Given the description of an element on the screen output the (x, y) to click on. 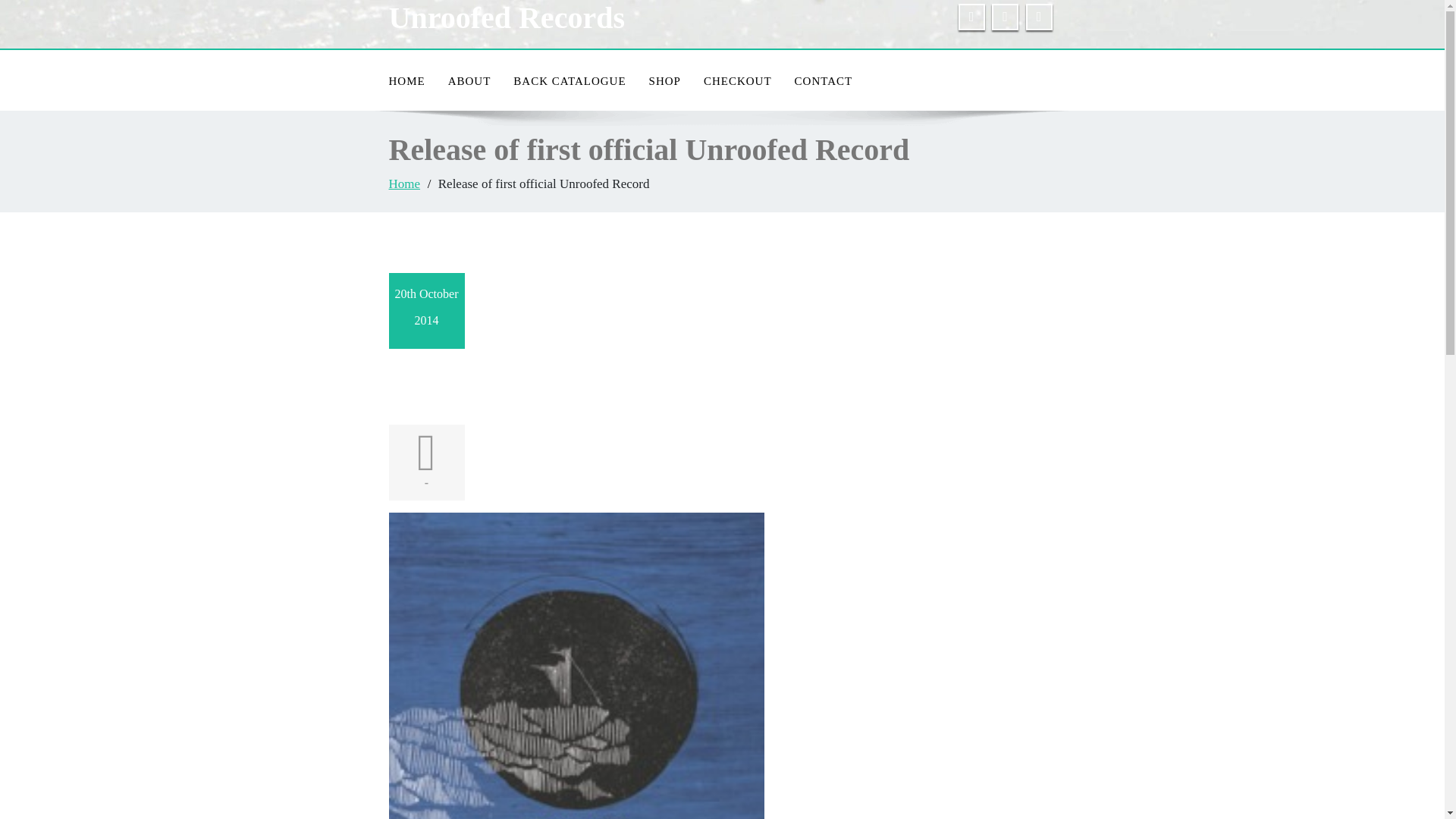
CONTACT (823, 81)
Unroofed Records (549, 18)
Home (404, 183)
Unroofed Records (549, 18)
SHOP (665, 81)
ABOUT (469, 81)
CHECKOUT (738, 81)
HOME (406, 81)
BACK CATALOGUE (569, 81)
